Given the description of an element on the screen output the (x, y) to click on. 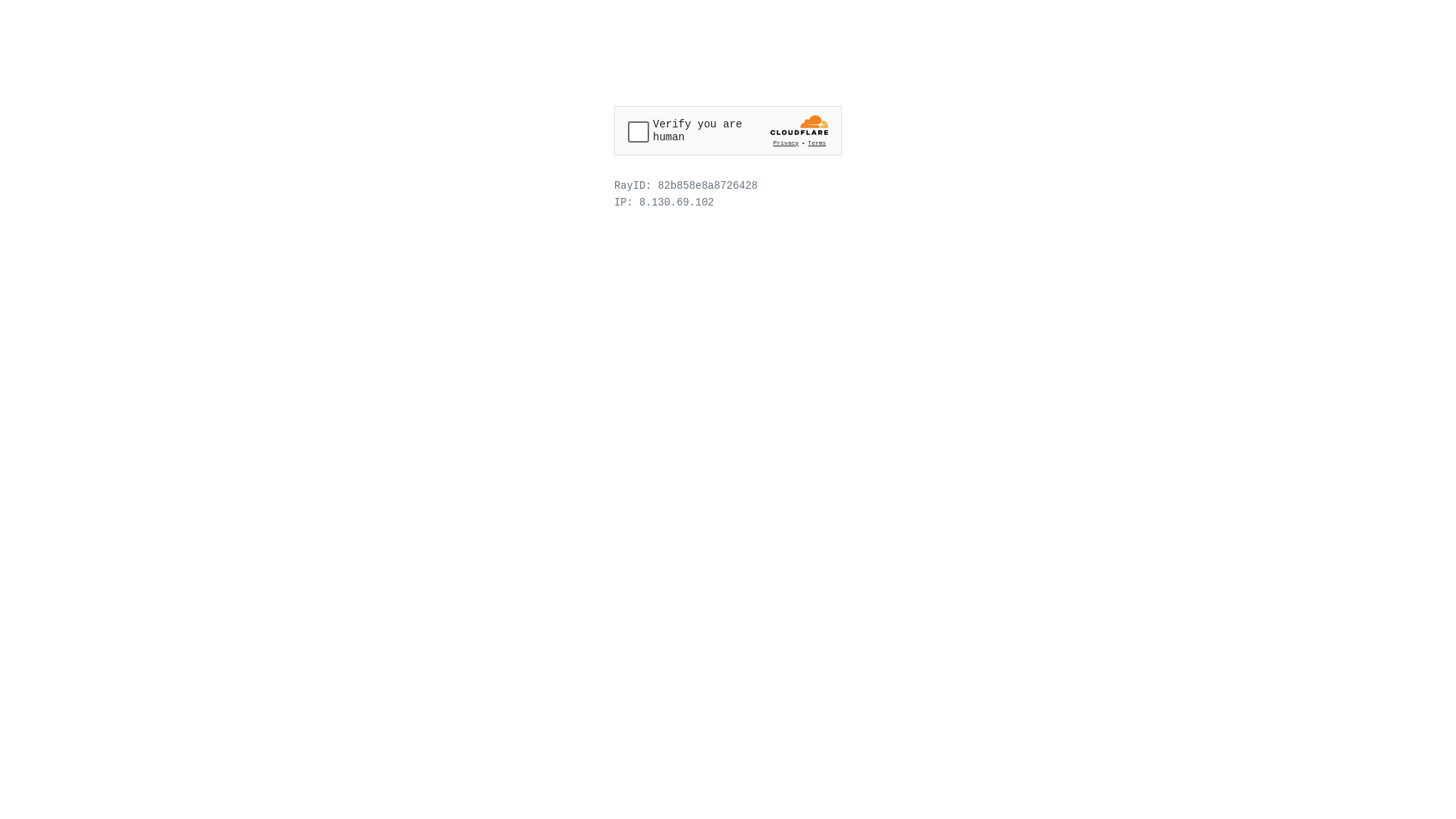
Widget containing a Cloudflare security challenge Element type: hover (727, 130)
